Given the description of an element on the screen output the (x, y) to click on. 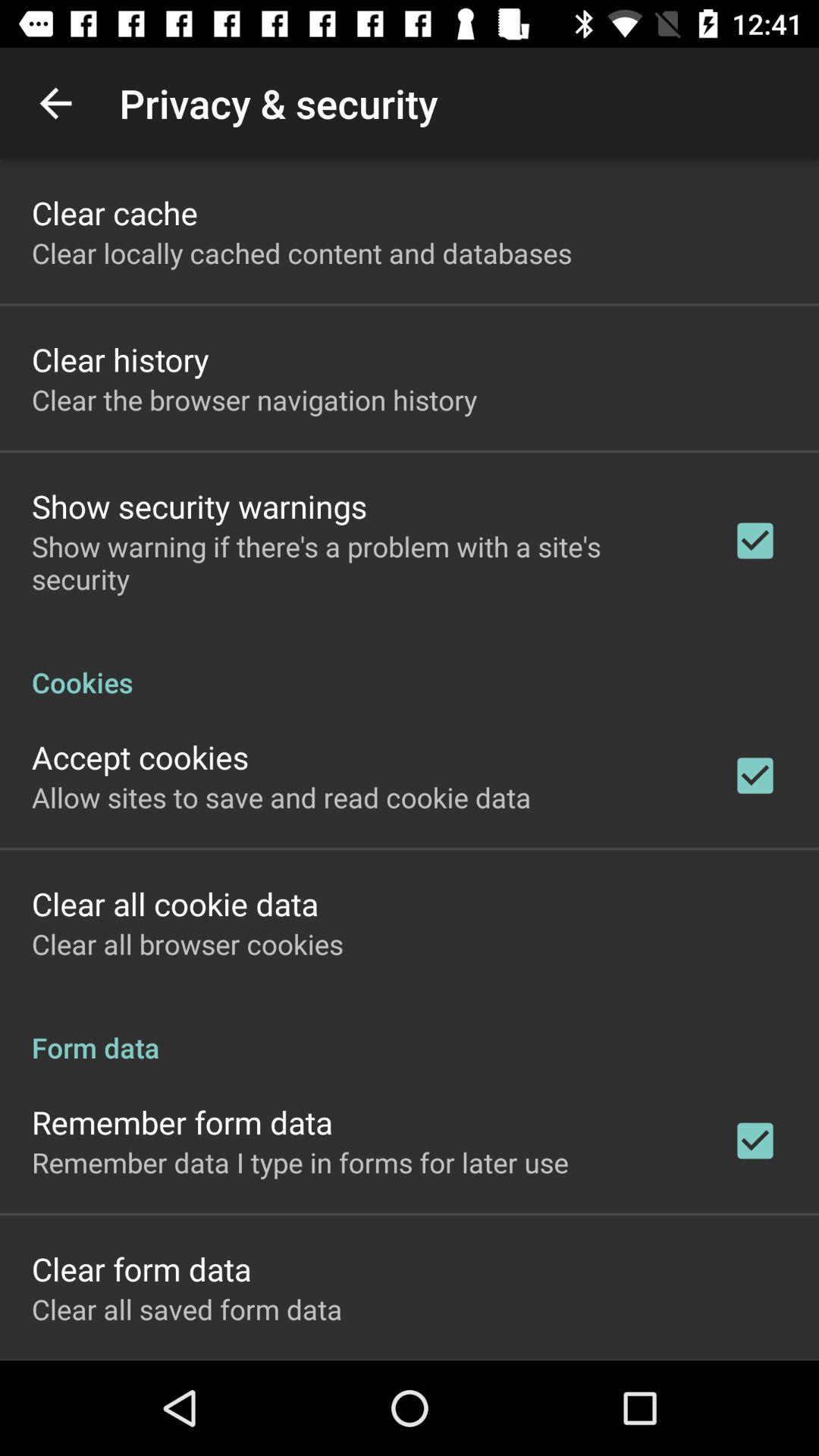
choose icon above the cookies icon (361, 562)
